Given the description of an element on the screen output the (x, y) to click on. 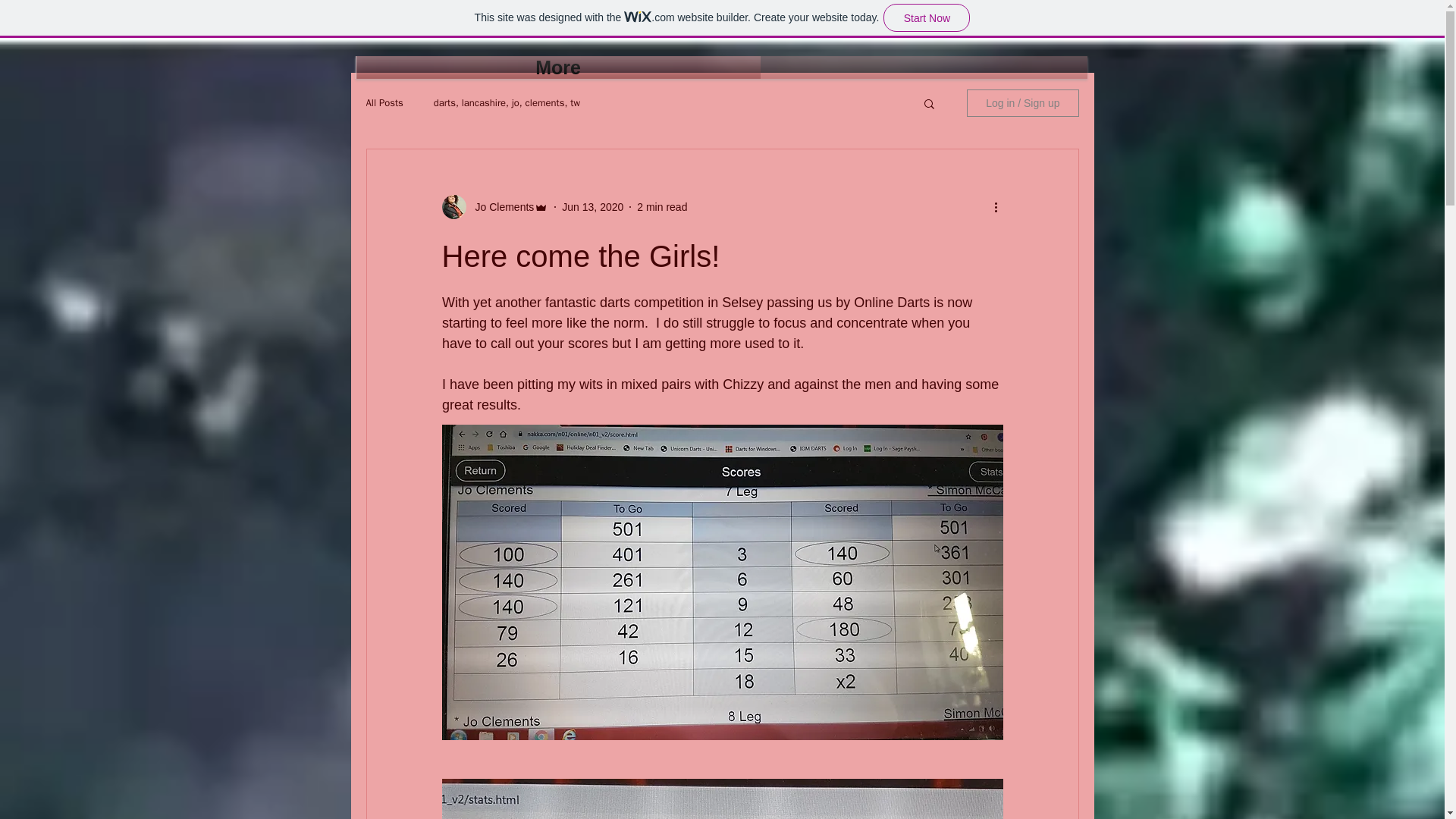
Jun 13, 2020 (592, 205)
All Posts (384, 102)
darts, lancashire, jo, clements, tw (506, 102)
Jo Clements (499, 206)
2 min read (662, 205)
